Given the description of an element on the screen output the (x, y) to click on. 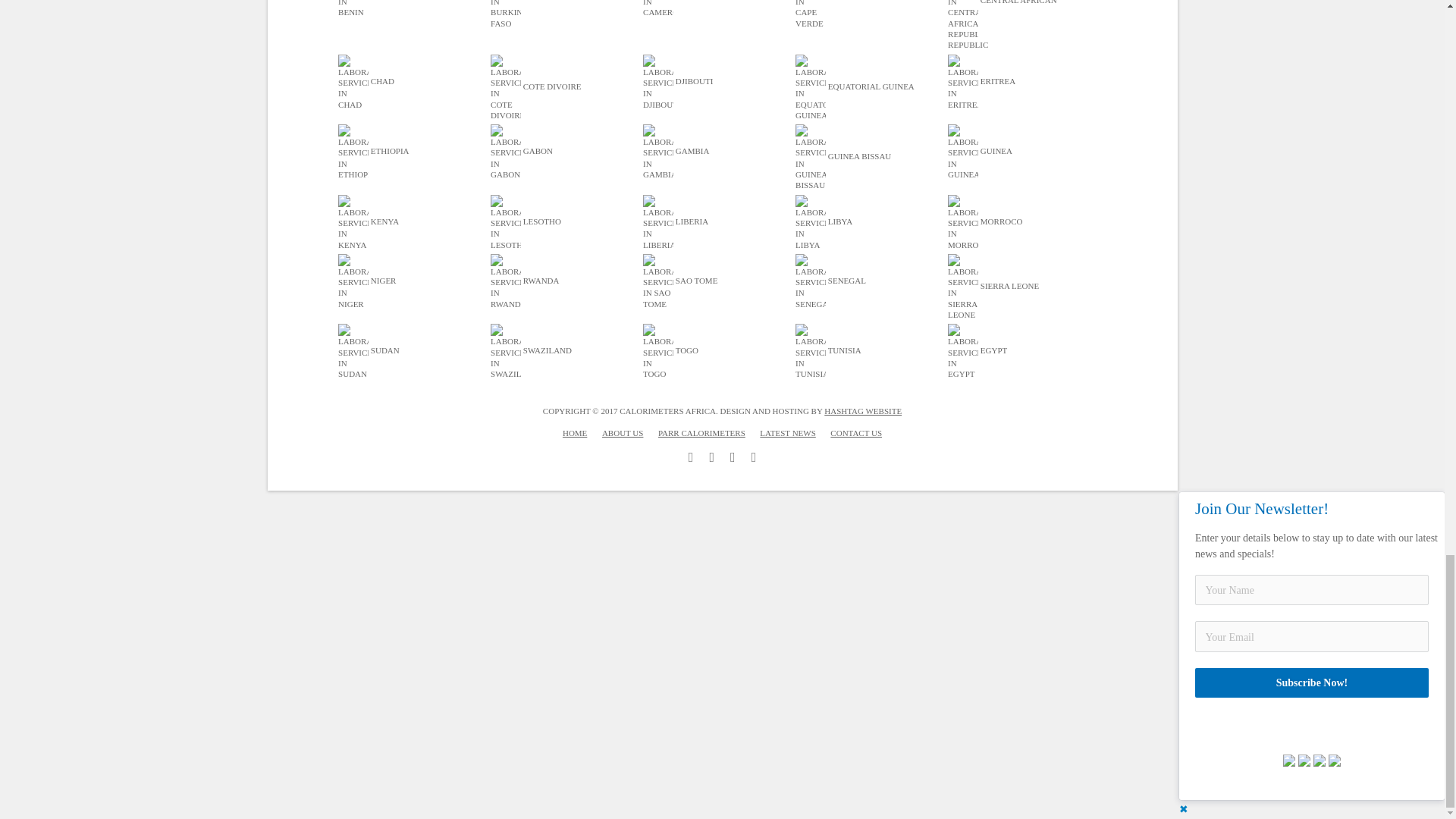
HASHTAG WEBSITE (862, 410)
CONTACT US (855, 432)
ABOUT US (622, 432)
PARR CALORIMETERS (701, 432)
LATEST NEWS (787, 432)
HOME (574, 432)
